Given the description of an element on the screen output the (x, y) to click on. 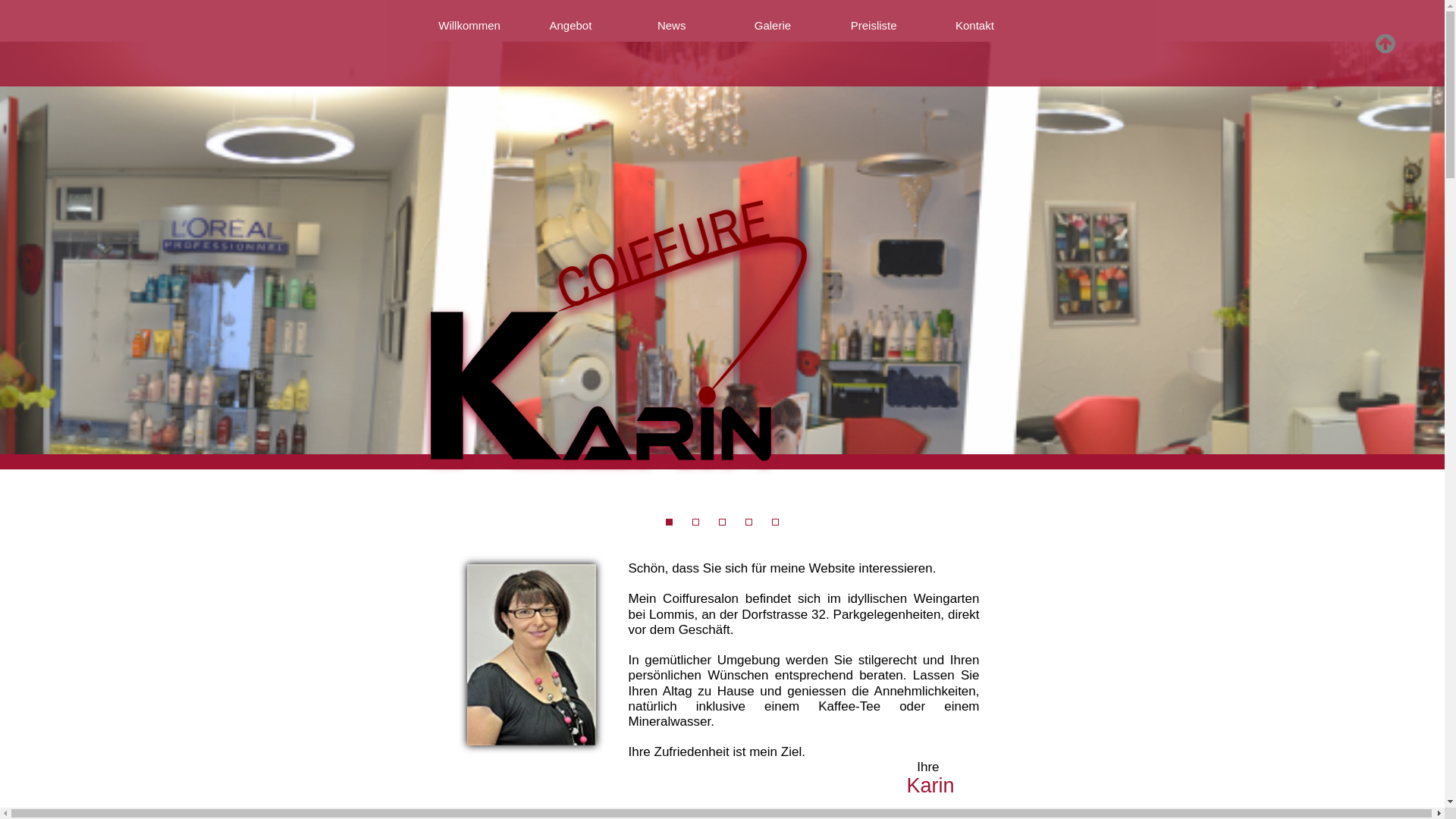
Preisliste Element type: text (873, 25)
Galerie Element type: text (771, 25)
Coiffeure Karin Element type: hover (531, 654)
Angebot Element type: text (570, 25)
Kontakt Element type: text (974, 25)
  Element type: text (1384, 43)
News Element type: text (671, 25)
Willkommen Element type: text (468, 25)
